Given the description of an element on the screen output the (x, y) to click on. 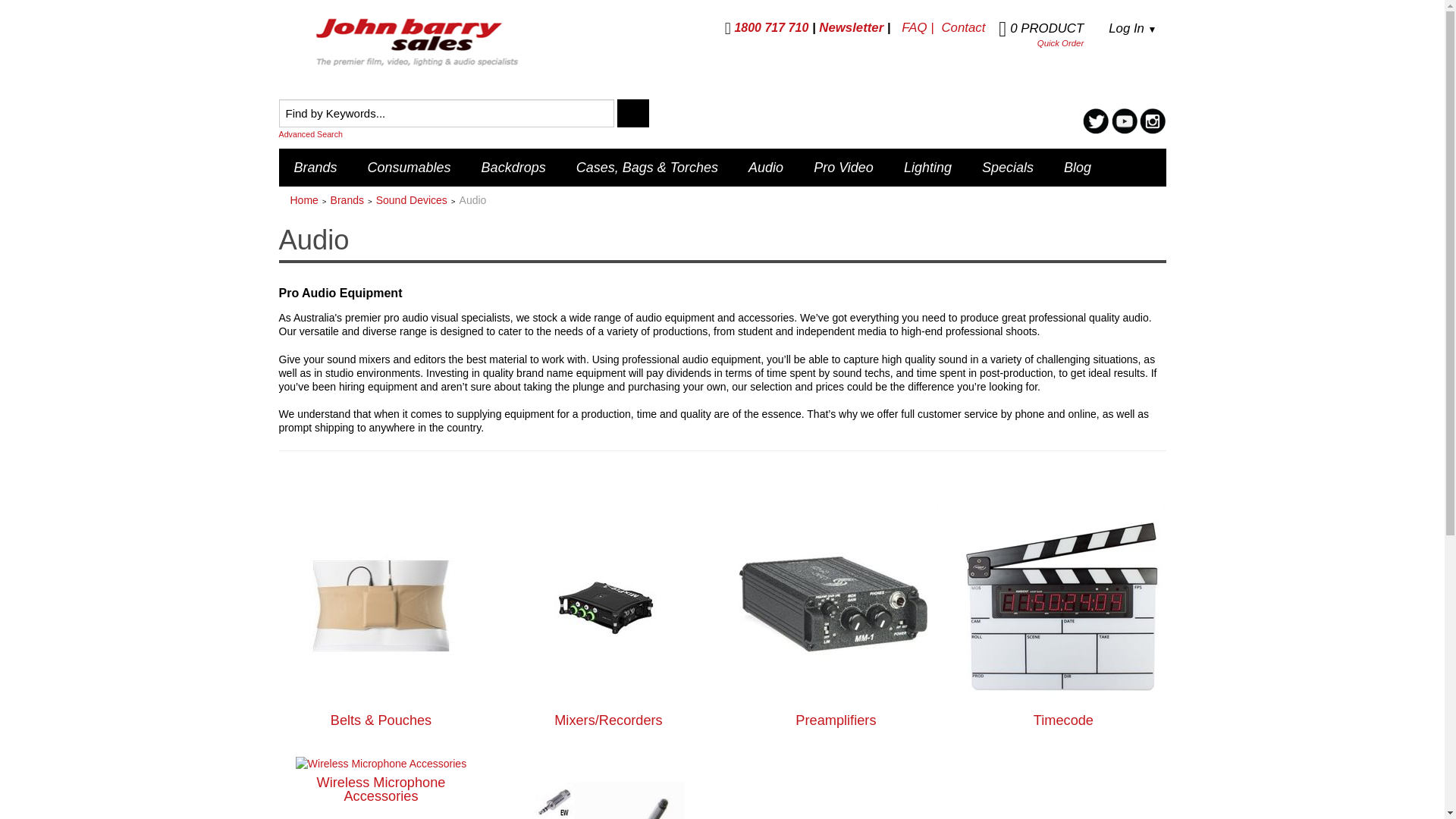
Contact (963, 27)
Audio (765, 167)
1800 717 710 (767, 27)
Specials (1007, 167)
Backdrops (512, 167)
Timecode (1063, 604)
Home (303, 200)
John Barry Sales (419, 44)
Preamplifiers (835, 720)
Advanced Search (499, 133)
Preamplifiers (835, 604)
Consumables (408, 167)
Sound Devices (410, 200)
Brands (347, 200)
Wireless Microphone Accessories (380, 762)
